Given the description of an element on the screen output the (x, y) to click on. 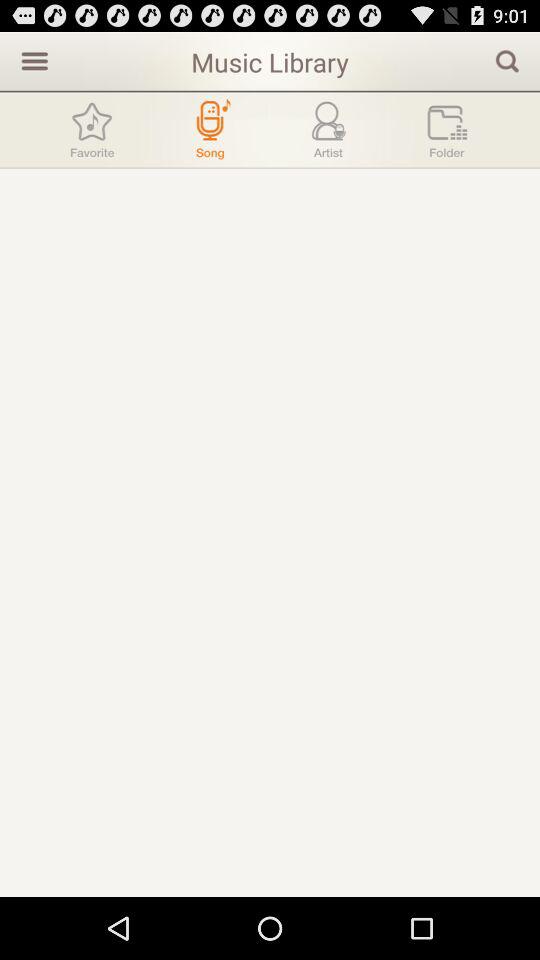
open menu (32, 60)
